Given the description of an element on the screen output the (x, y) to click on. 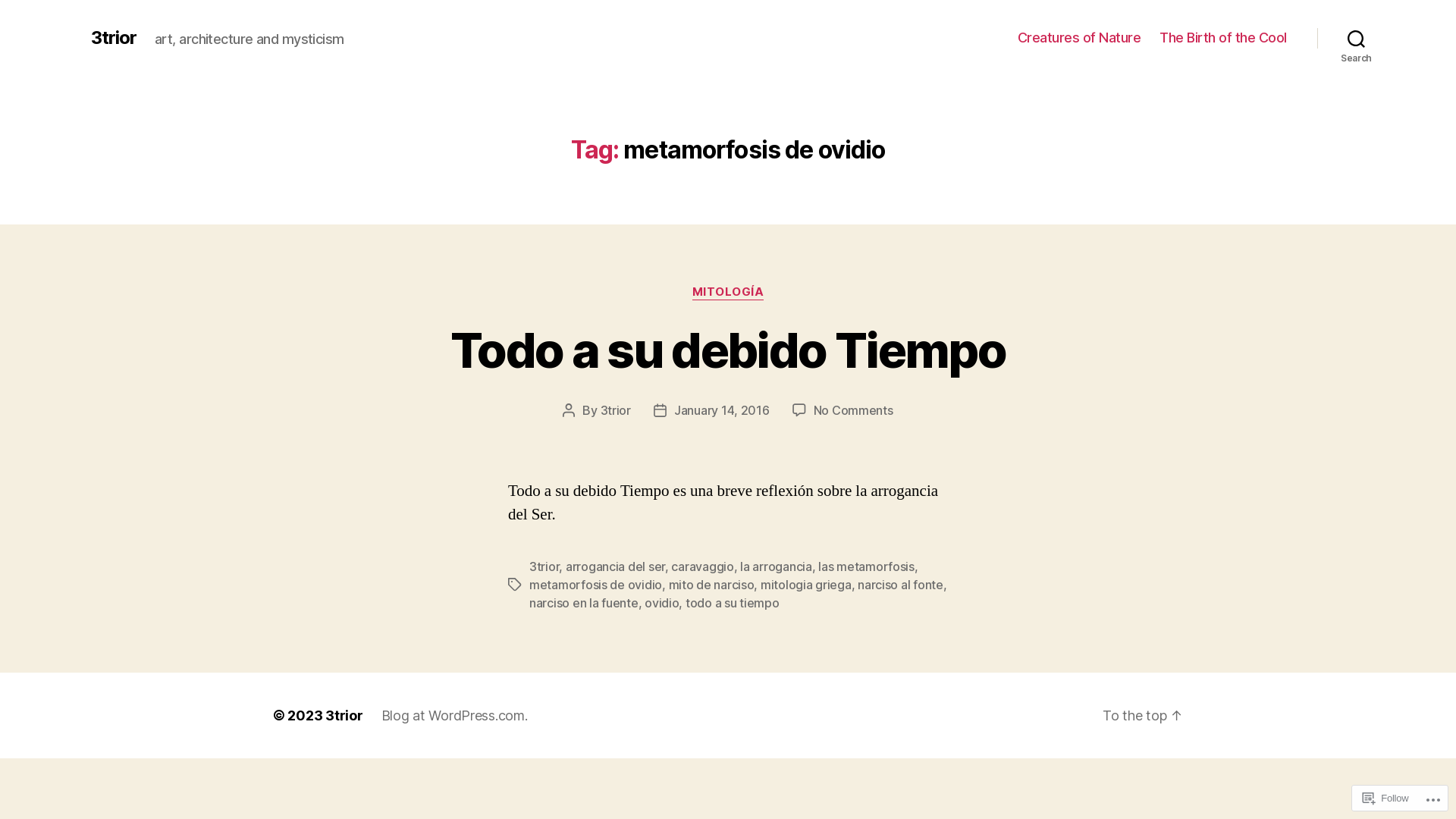
mitologia griega Element type: text (805, 584)
ovidio Element type: text (661, 602)
las metamorfosis Element type: text (866, 566)
la arrogancia Element type: text (776, 566)
mito de narciso Element type: text (711, 584)
The Birth of the Cool Element type: text (1222, 37)
metamorfosis de ovidio Element type: text (595, 584)
narciso al fonte Element type: text (900, 584)
January 14, 2016 Element type: text (721, 409)
3trior Element type: text (543, 566)
Follow Element type: text (1385, 797)
Blog at WordPress.com. Element type: text (454, 715)
todo a su tiempo Element type: text (732, 602)
3trior Element type: text (113, 37)
caravaggio Element type: text (702, 566)
No Comments Element type: text (853, 409)
3trior Element type: text (343, 715)
narciso en la fuente Element type: text (583, 602)
Search Element type: text (1356, 37)
arrogancia del ser Element type: text (615, 566)
Creatures of Nature Element type: text (1079, 37)
3trior Element type: text (615, 409)
Todo a su debido Tiempo Element type: text (727, 349)
